Given the description of an element on the screen output the (x, y) to click on. 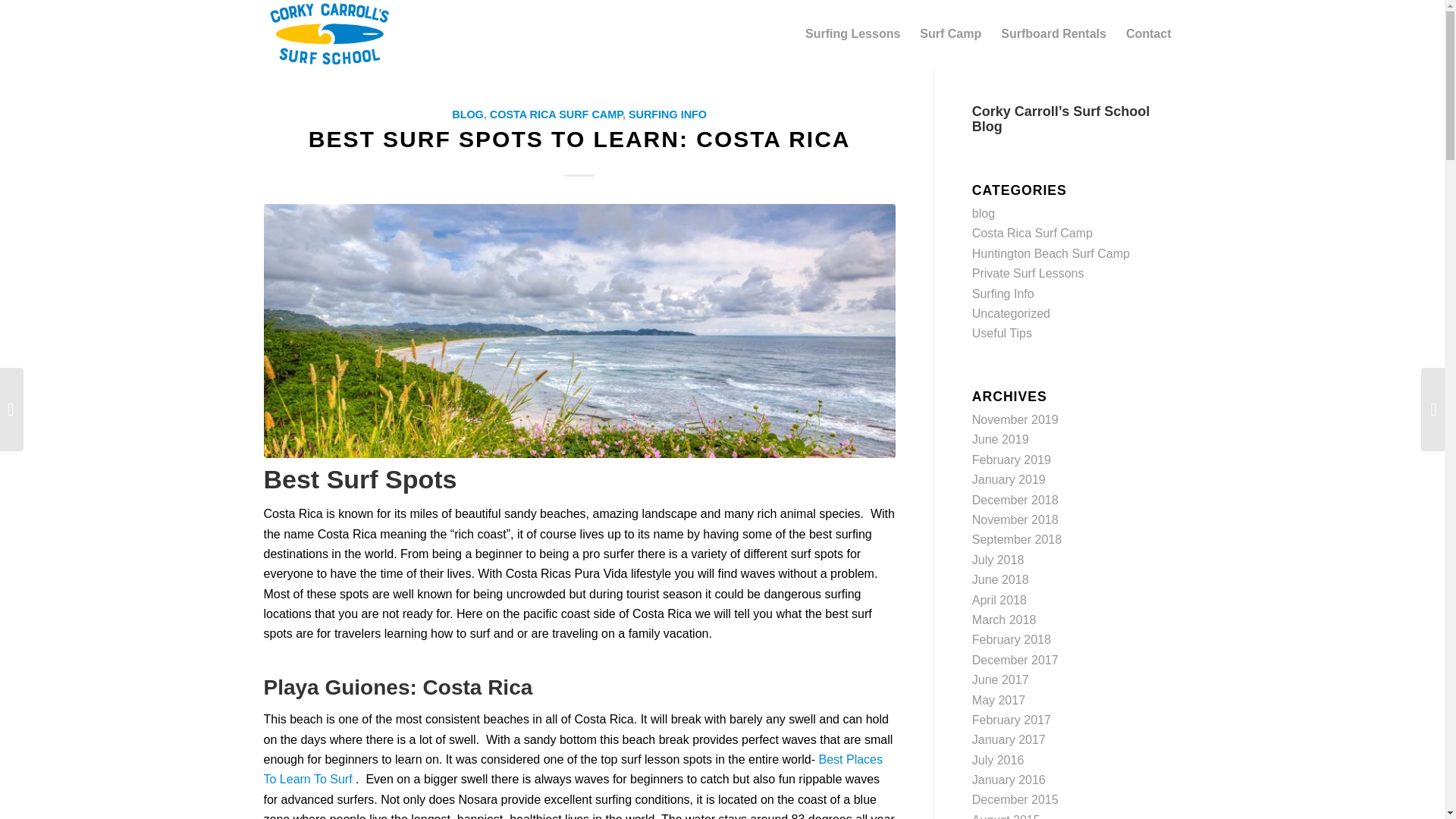
Contact (1148, 33)
Best Places To Learn To Surf (572, 768)
BLOG (467, 114)
Surf Camp (950, 33)
blog (983, 213)
Costa Rica Surf Camp (1032, 232)
Surfing Lessons (852, 33)
SURFING INFO (667, 114)
Surfboard Rentals (1053, 33)
COSTA RICA SURF CAMP (556, 114)
